Given the description of an element on the screen output the (x, y) to click on. 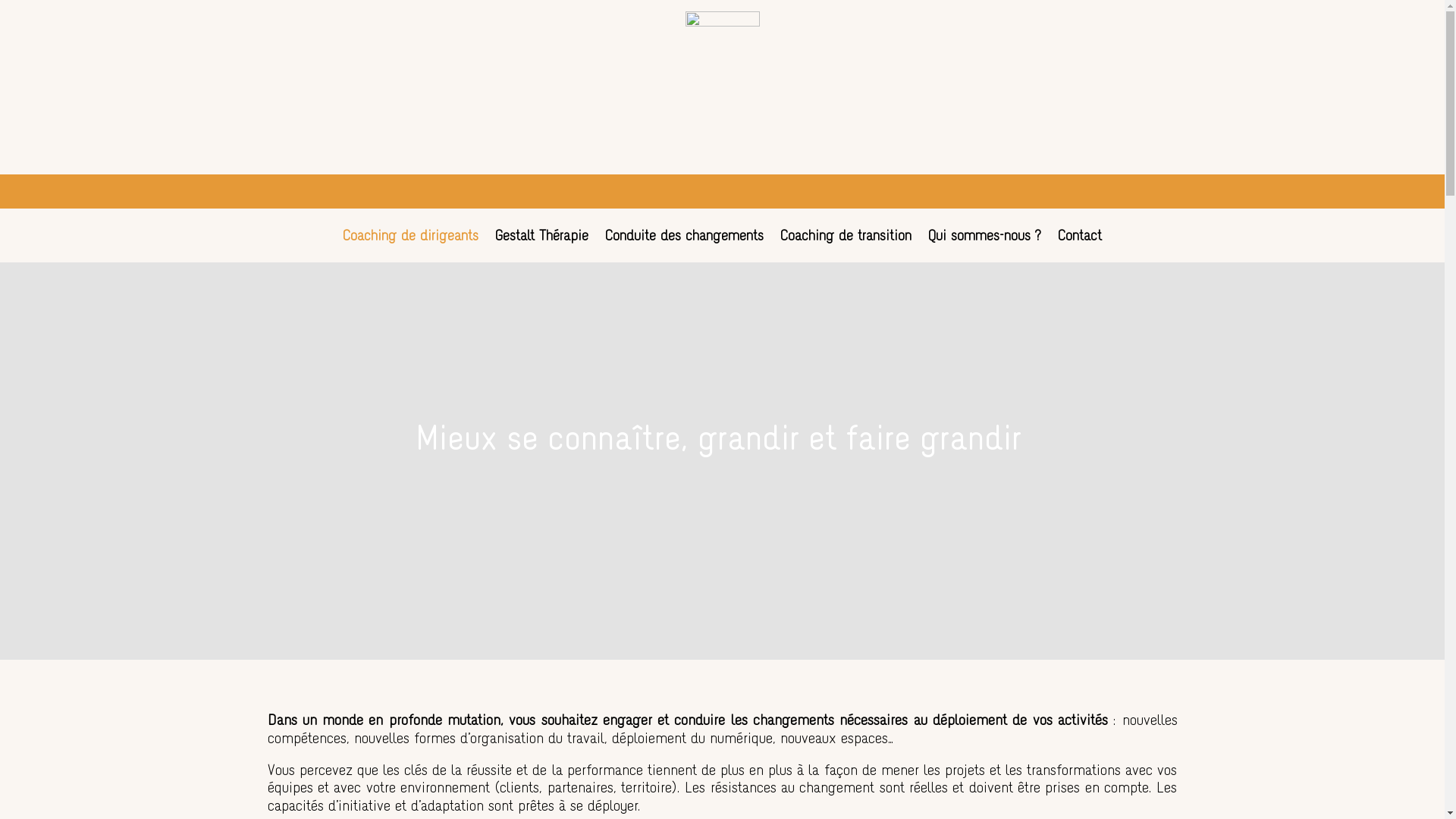
Coaching de dirigeants Element type: text (410, 244)
Coaching de transition Element type: text (845, 244)
Qui sommes-nous ? Element type: text (984, 244)
Contact Element type: text (1079, 244)
Conduite des changements Element type: text (684, 244)
